Given the description of an element on the screen output the (x, y) to click on. 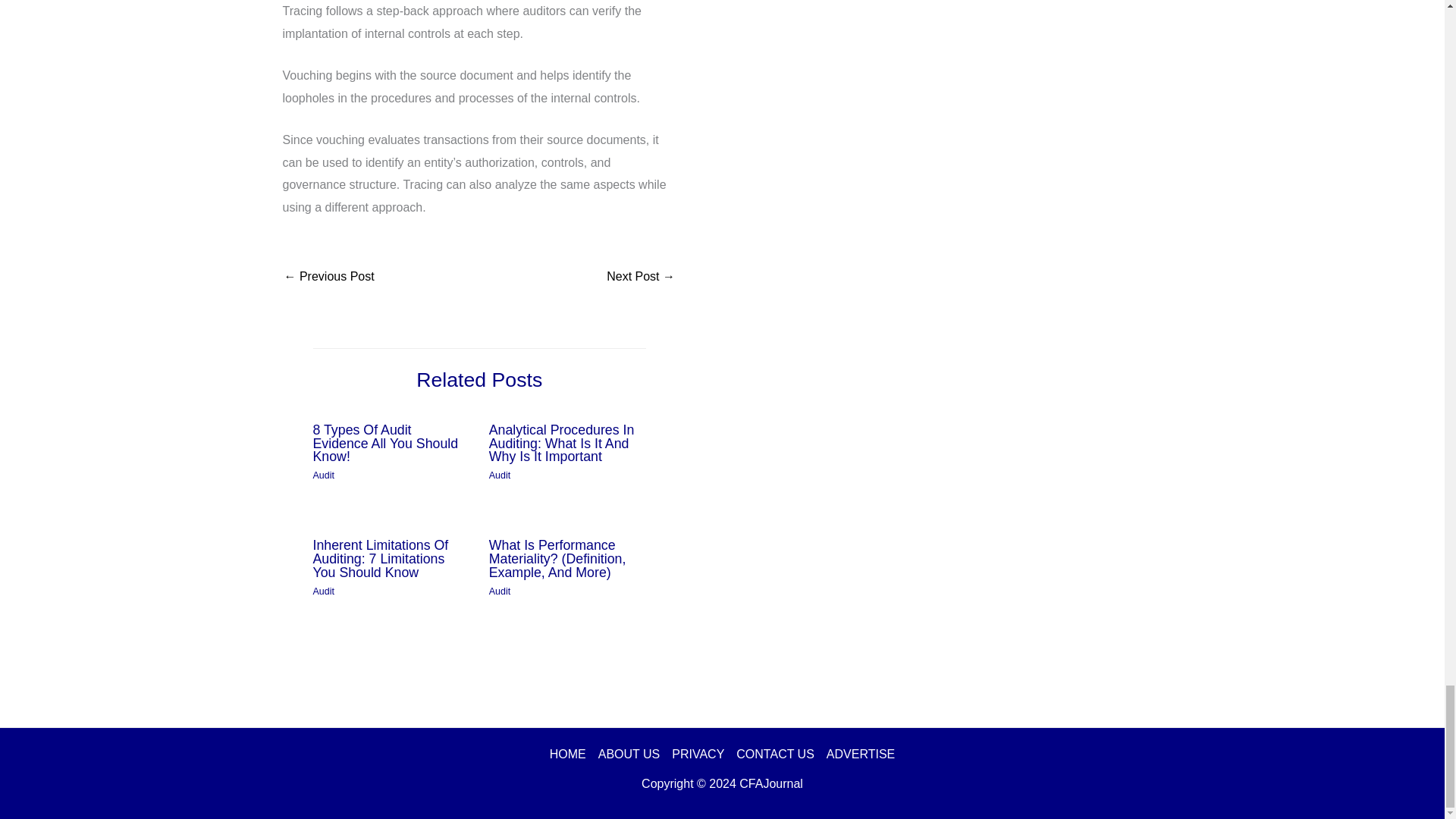
What is a Walkthrough In An Audit? And Why Is It Important? (641, 277)
